Given the description of an element on the screen output the (x, y) to click on. 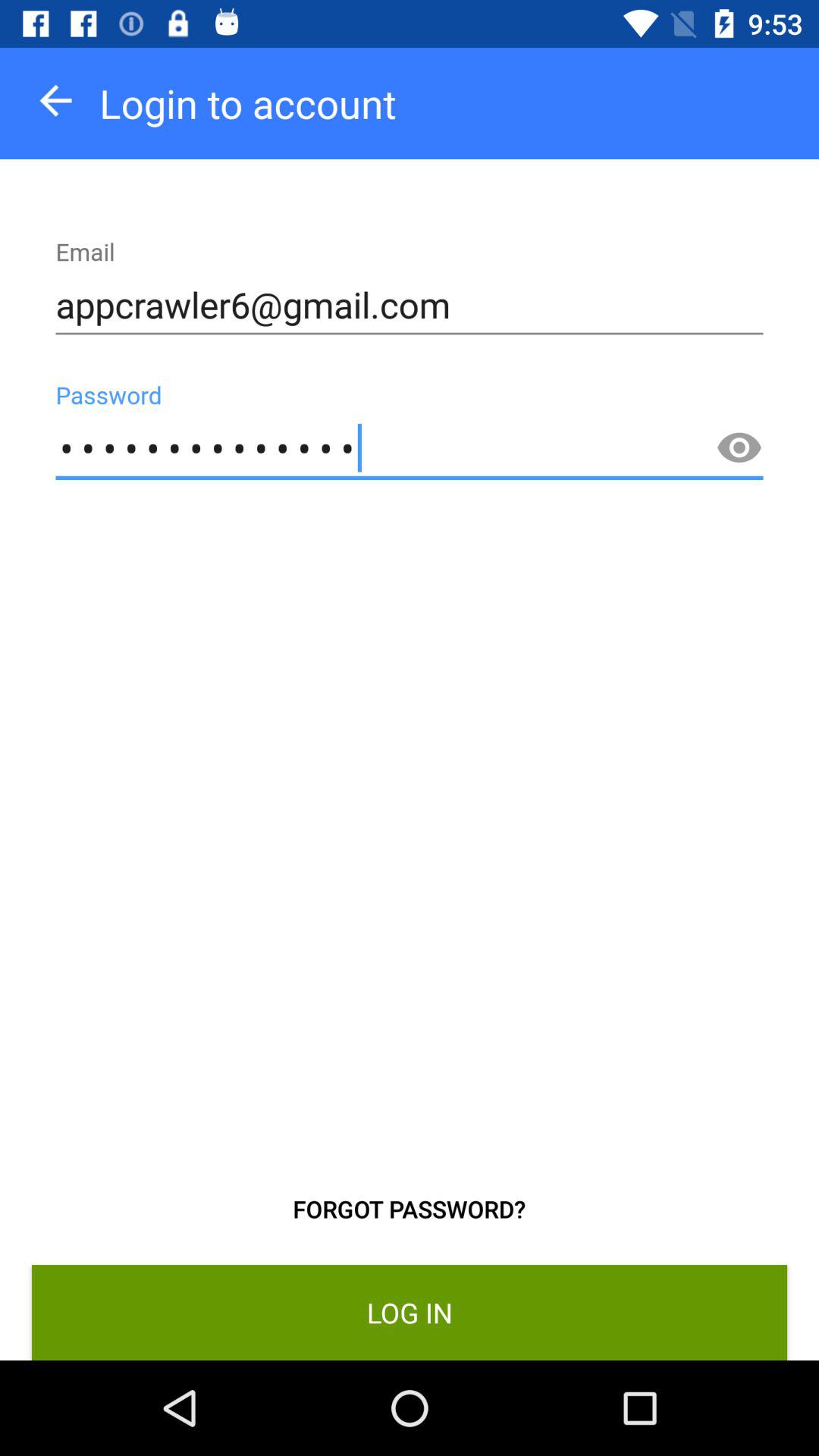
press appcrawler3116 icon (409, 448)
